Given the description of an element on the screen output the (x, y) to click on. 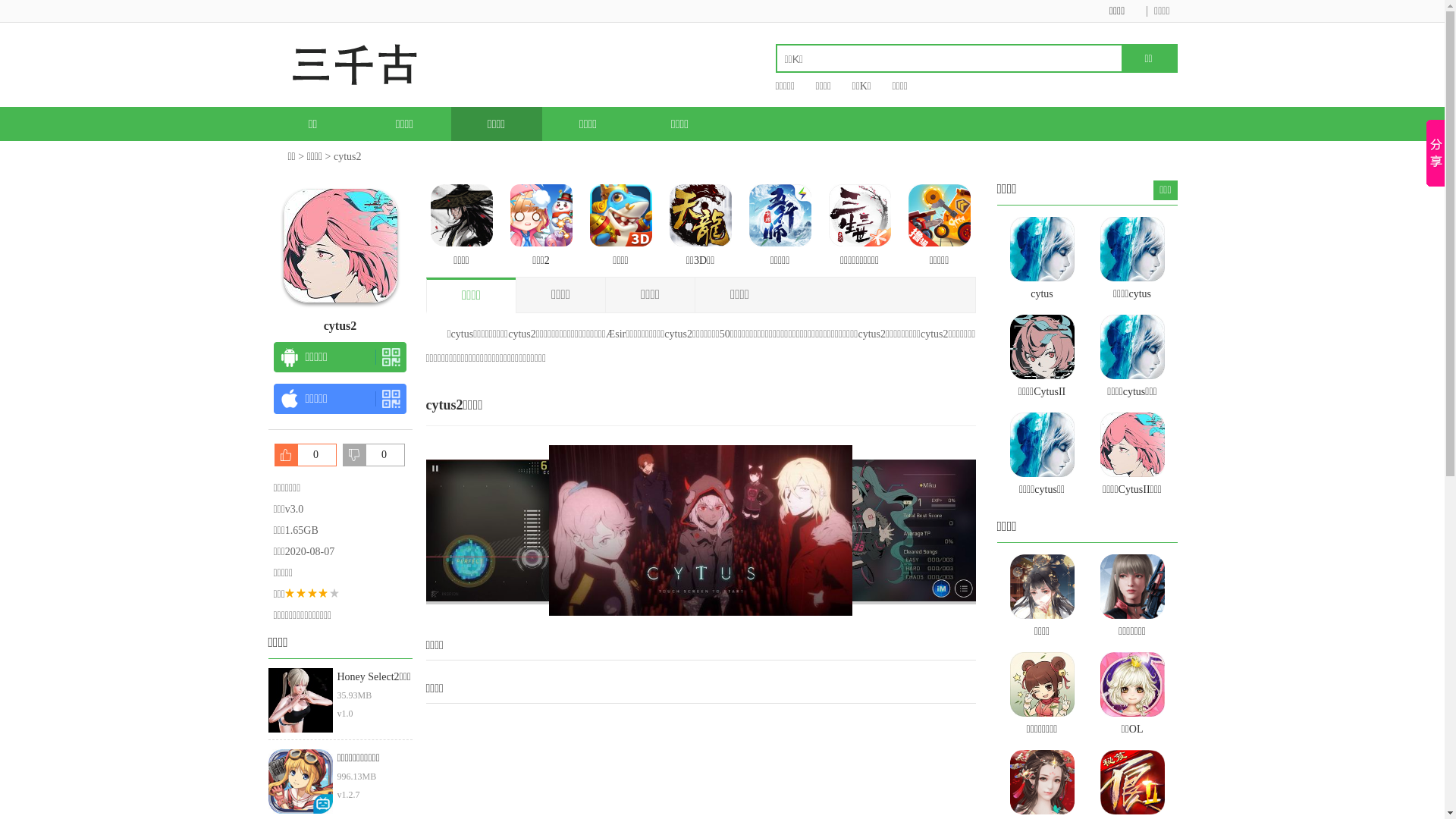
0 Element type: text (305, 454)
cytus Element type: text (1041, 259)
0 Element type: text (373, 454)
